Given the description of an element on the screen output the (x, y) to click on. 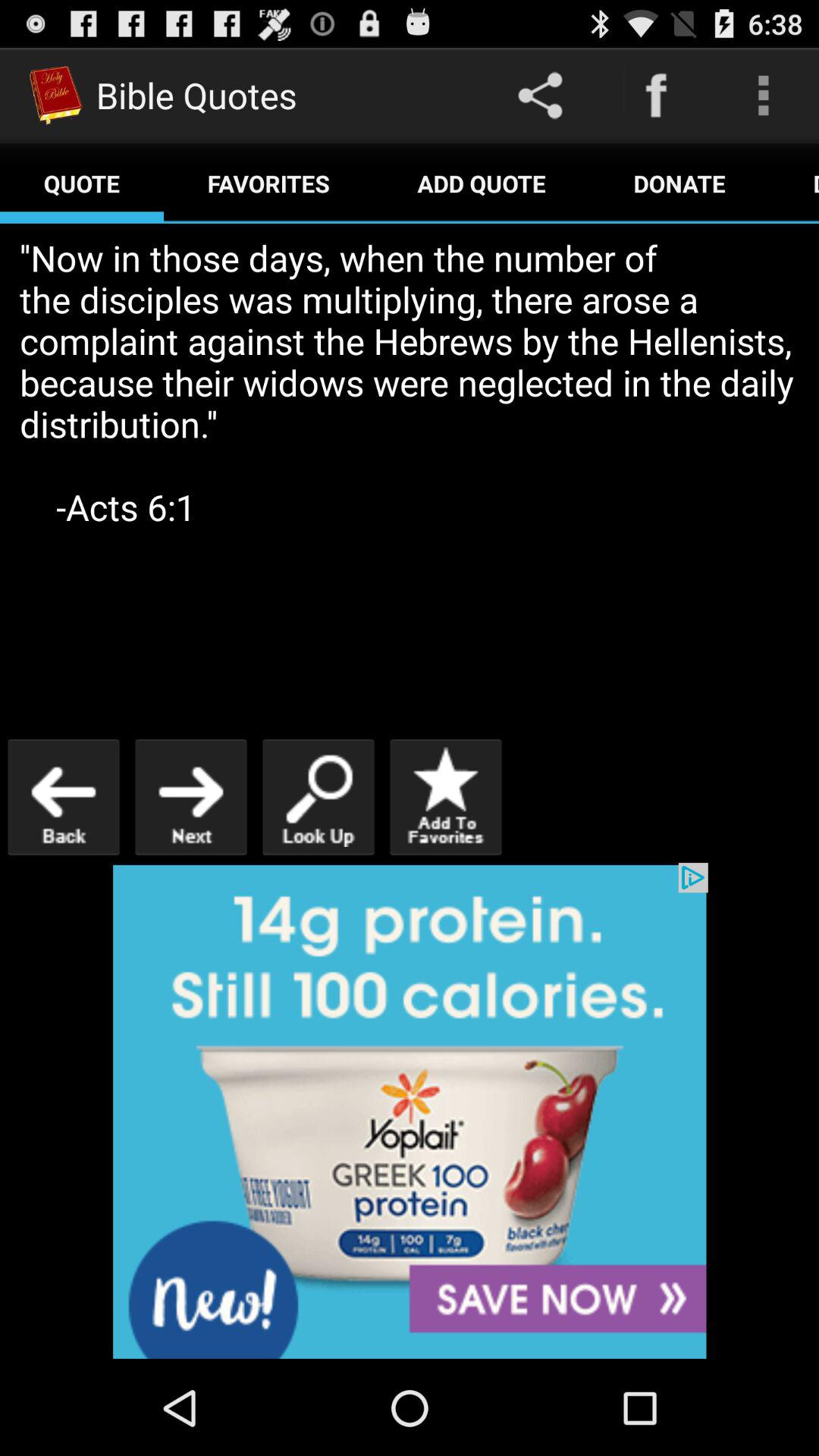
go to next (190, 796)
